Given the description of an element on the screen output the (x, y) to click on. 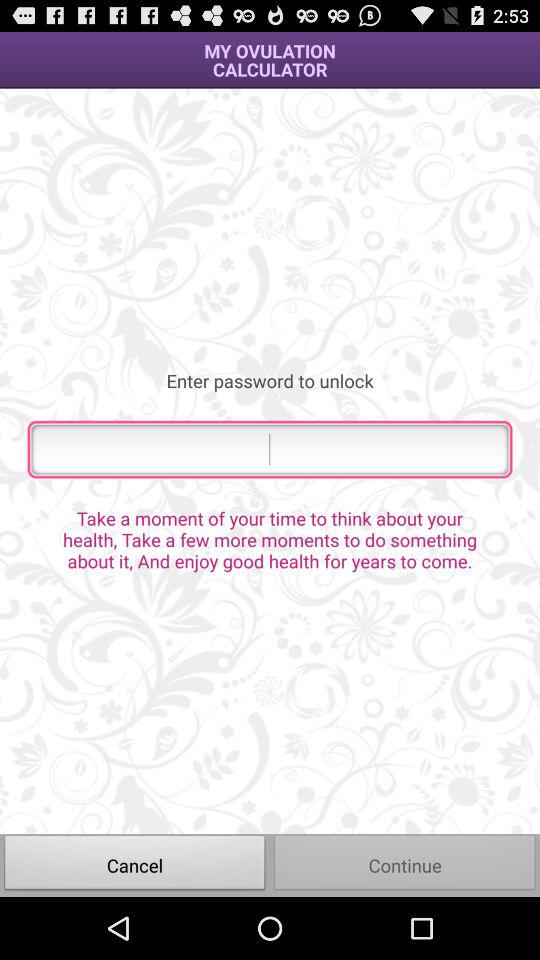
select the icon at the bottom left corner (135, 864)
